Given the description of an element on the screen output the (x, y) to click on. 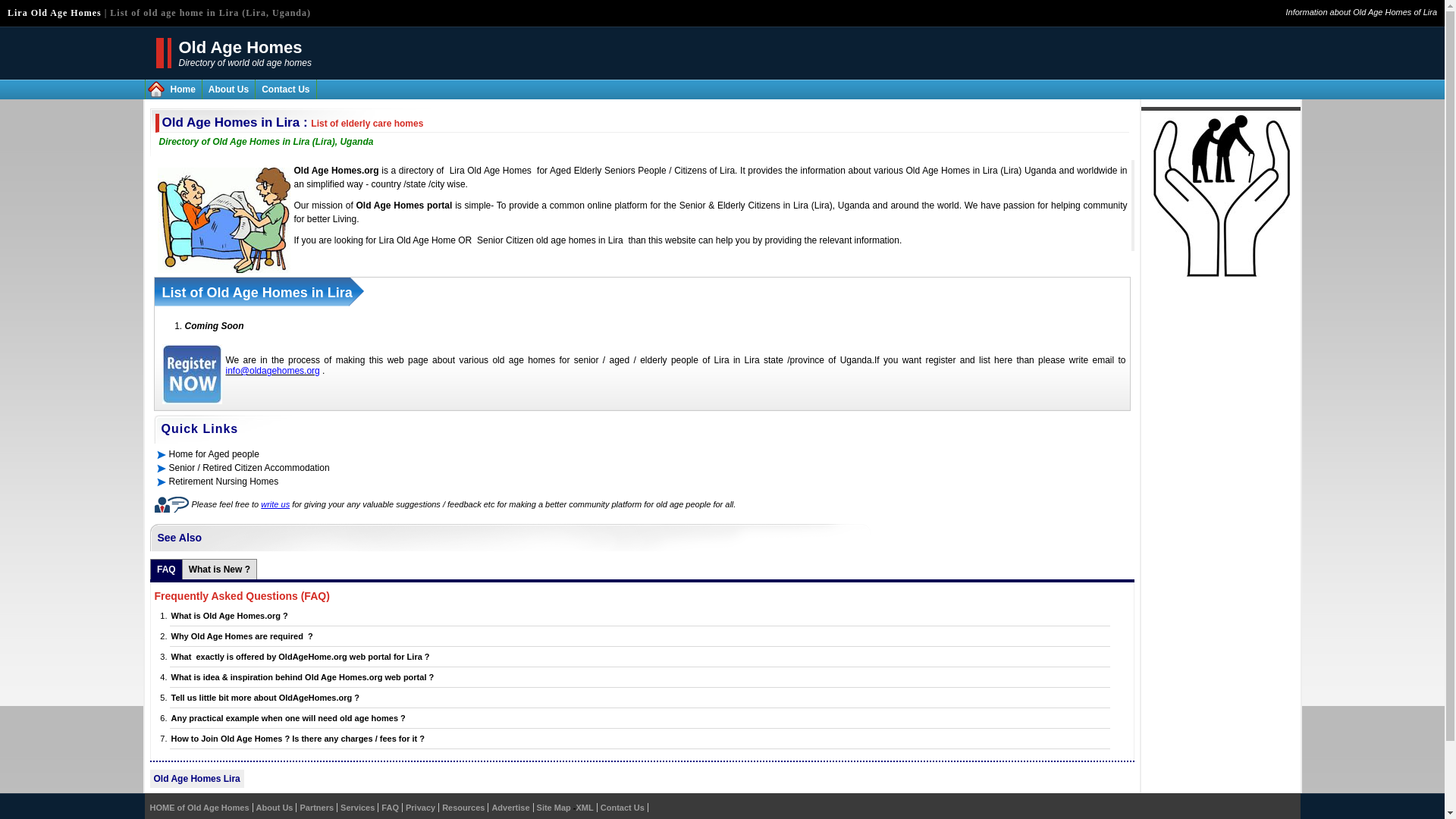
Privacy (420, 807)
FAQ (389, 807)
Contact Us (285, 89)
Partners (316, 807)
FAQ (167, 569)
About Us (275, 807)
What is New ? (220, 569)
HOME of Old Age Homes (198, 807)
old age homes in Lira (579, 240)
write us (274, 503)
